Given the description of an element on the screen output the (x, y) to click on. 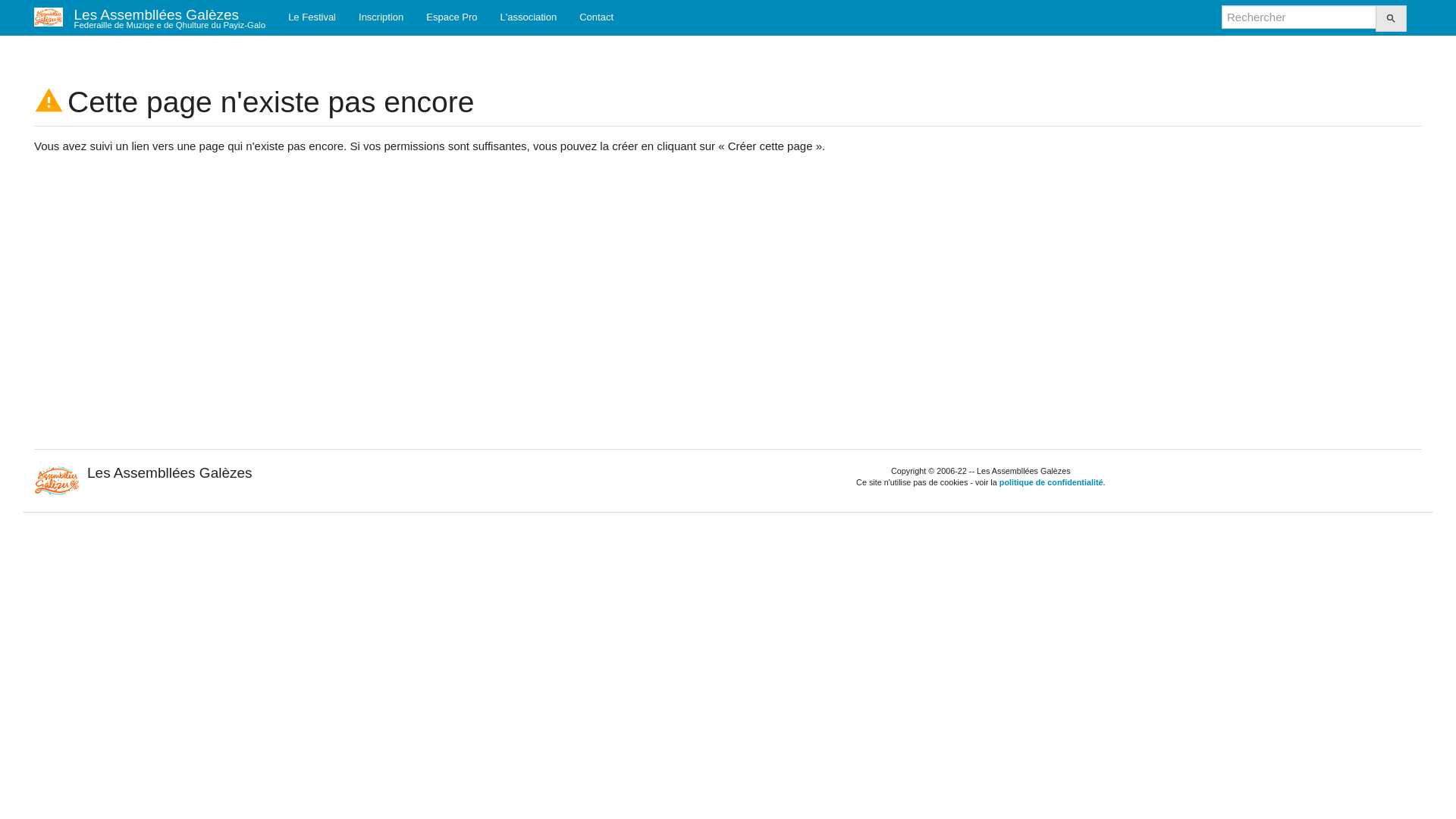
Contact Element type: text (595, 17)
L'association Element type: text (527, 17)
Rechercher Element type: hover (1390, 18)
Le Festival Element type: text (311, 17)
Inscription Element type: text (380, 17)
Espace Pro Element type: text (451, 17)
[F] Element type: hover (1298, 16)
